Given the description of an element on the screen output the (x, y) to click on. 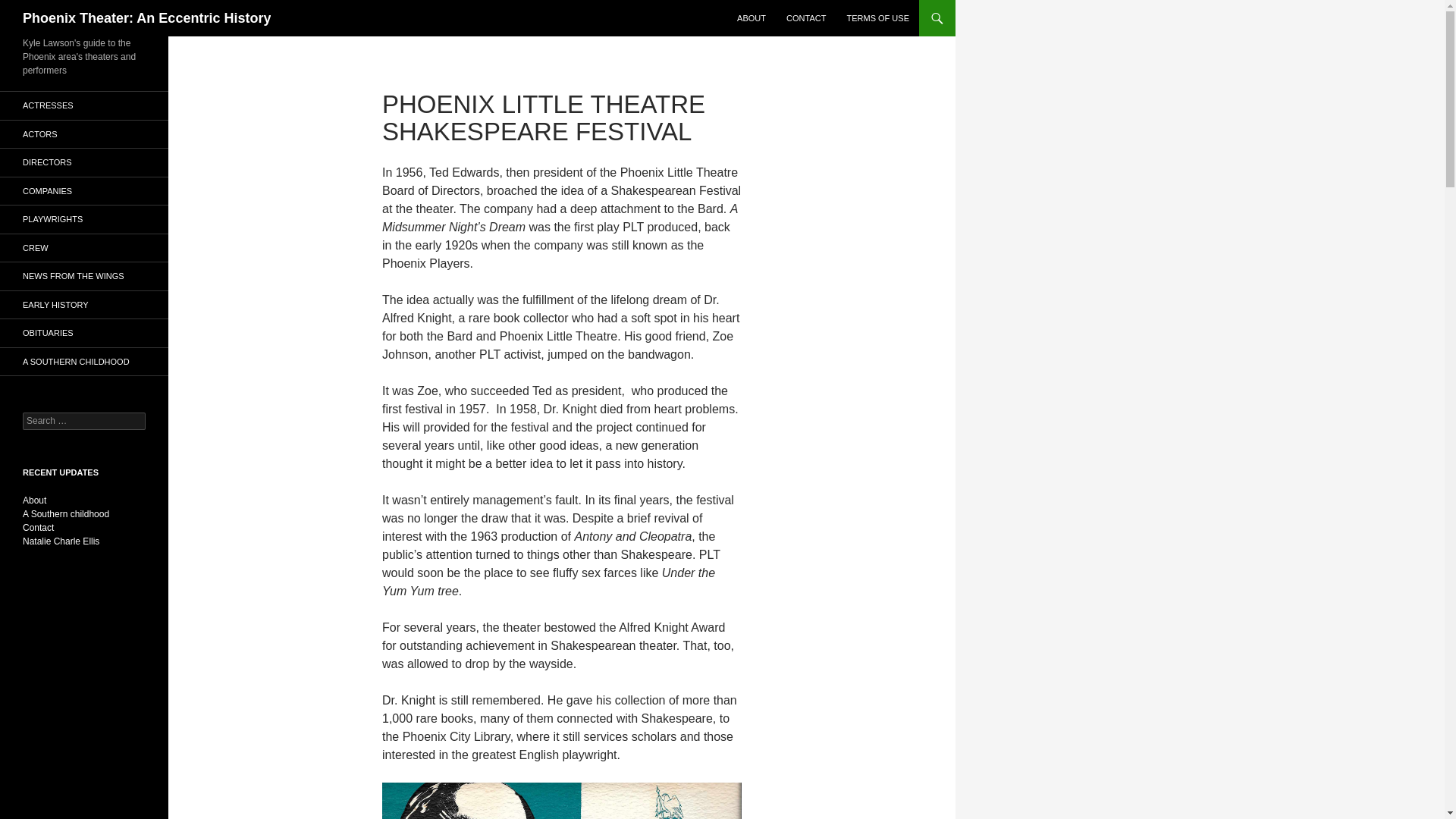
Phoenix Theater: An Eccentric History (146, 18)
PLAYWRIGHTS (84, 219)
A Southern childhood (66, 513)
OBITUARIES (84, 333)
CREW (84, 247)
ACTRESSES (84, 105)
CONTACT (805, 18)
COMPANIES (84, 191)
About (34, 500)
Natalie Charle Ellis (61, 541)
